Given the description of an element on the screen output the (x, y) to click on. 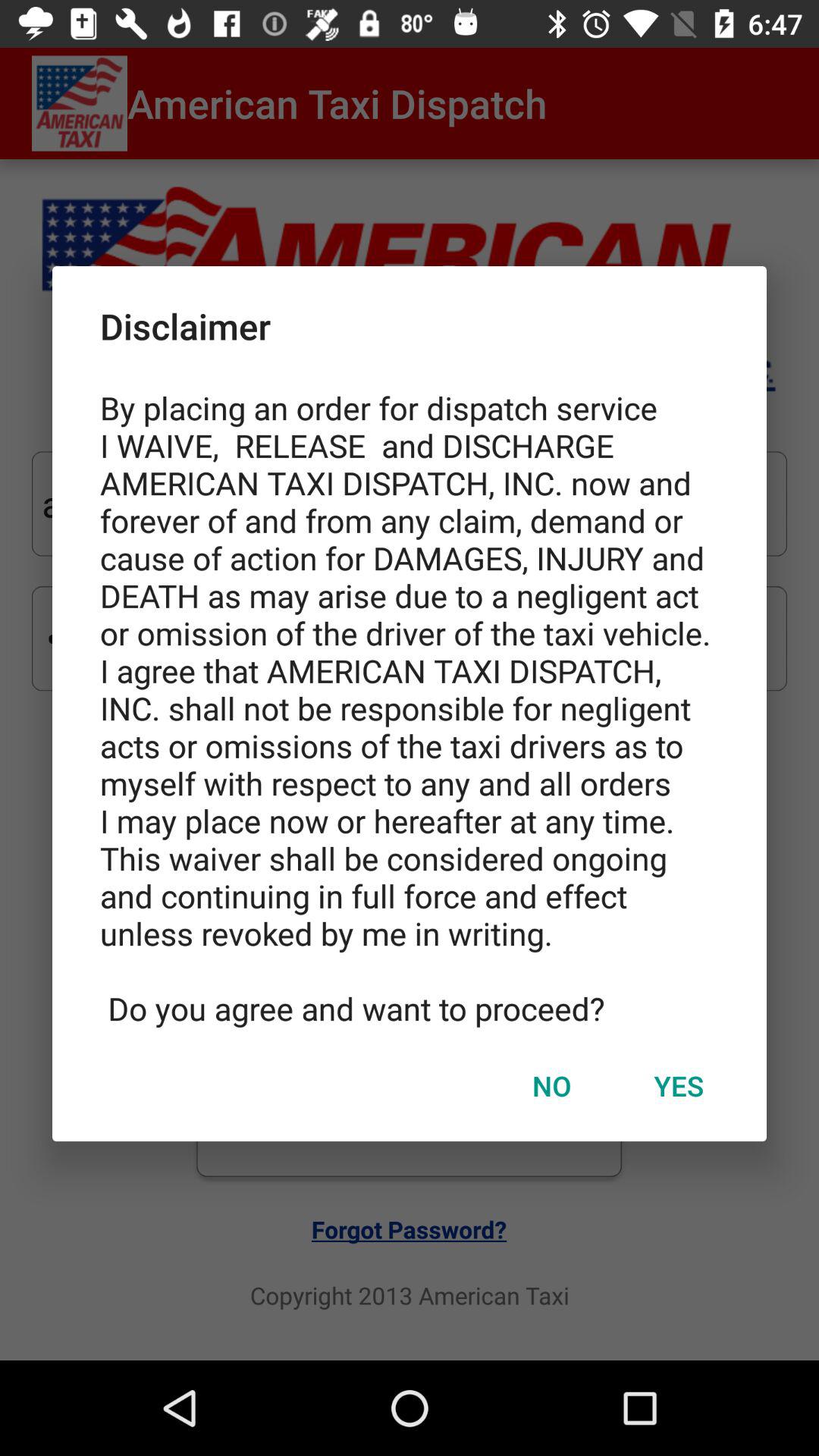
launch the icon to the left of yes icon (551, 1085)
